Given the description of an element on the screen output the (x, y) to click on. 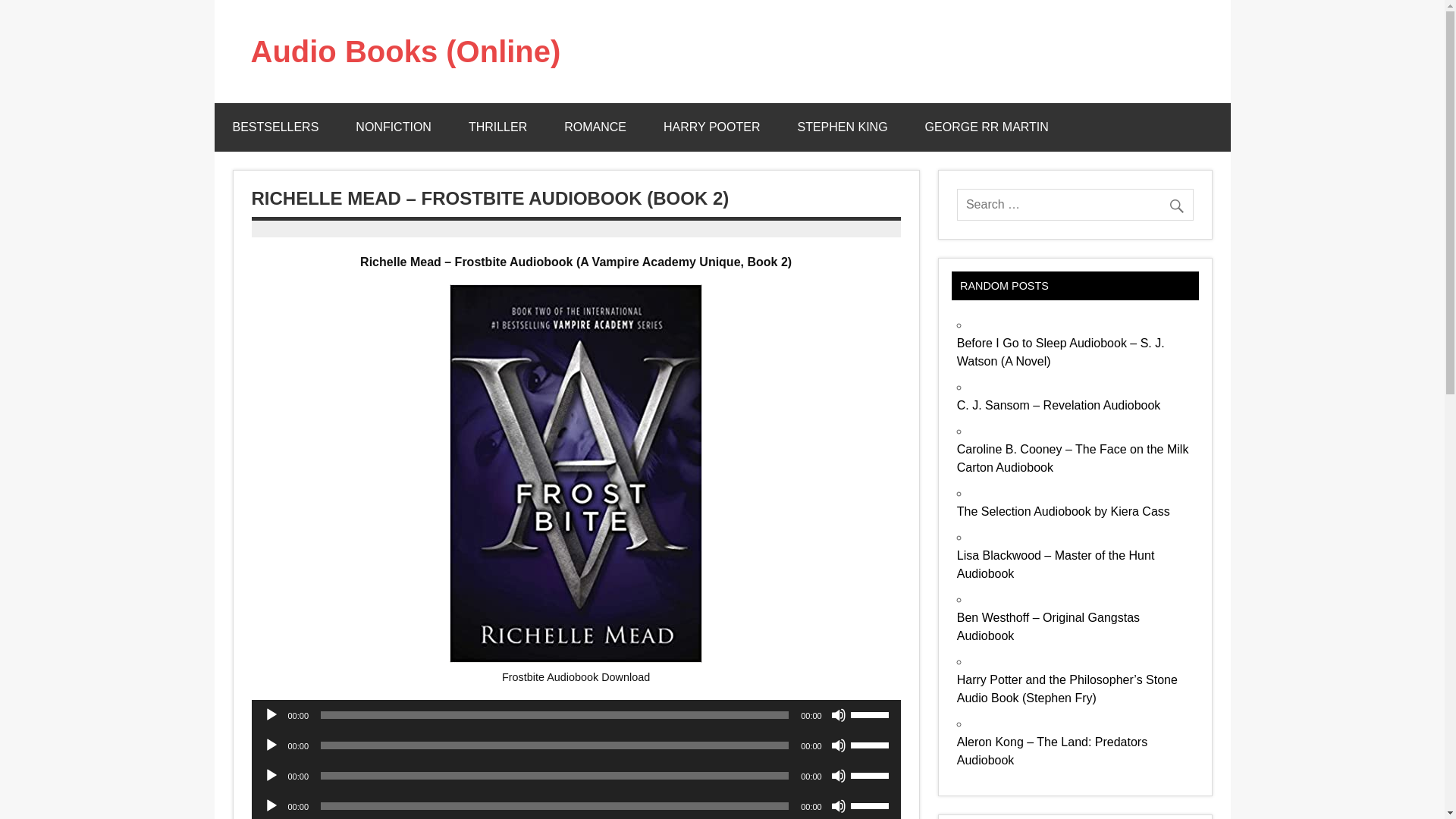
Play (271, 806)
ROMANCE (595, 127)
Mute (838, 744)
Play (271, 714)
THRILLER (496, 127)
BESTSELLERS (275, 127)
HARRY POOTER (711, 127)
Mute (838, 775)
GEORGE RR MARTIN (987, 127)
NONFICTION (393, 127)
Play (271, 775)
Mute (838, 714)
STEPHEN KING (841, 127)
Play (271, 744)
Mute (838, 806)
